Given the description of an element on the screen output the (x, y) to click on. 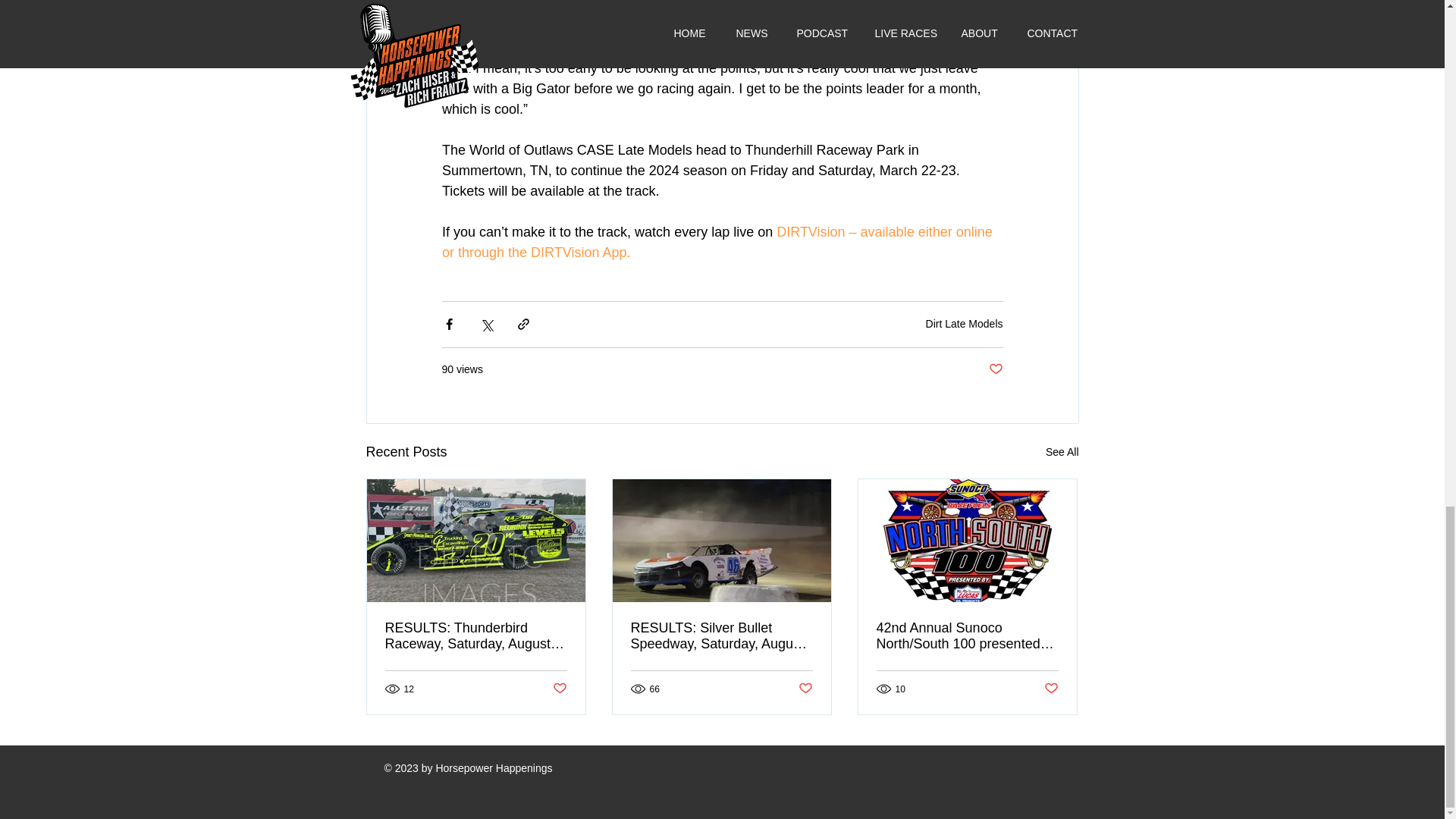
Post not marked as liked (995, 369)
Post not marked as liked (558, 688)
RESULTS: Silver Bullet Speedway, Saturday, August 3, 2024 (721, 635)
Dirt Late Models (964, 323)
See All (1061, 452)
Post not marked as liked (1050, 688)
Post not marked as liked (804, 688)
RESULTS: Thunderbird Raceway, Saturday, August 3, 2024 (476, 635)
